Given the description of an element on the screen output the (x, y) to click on. 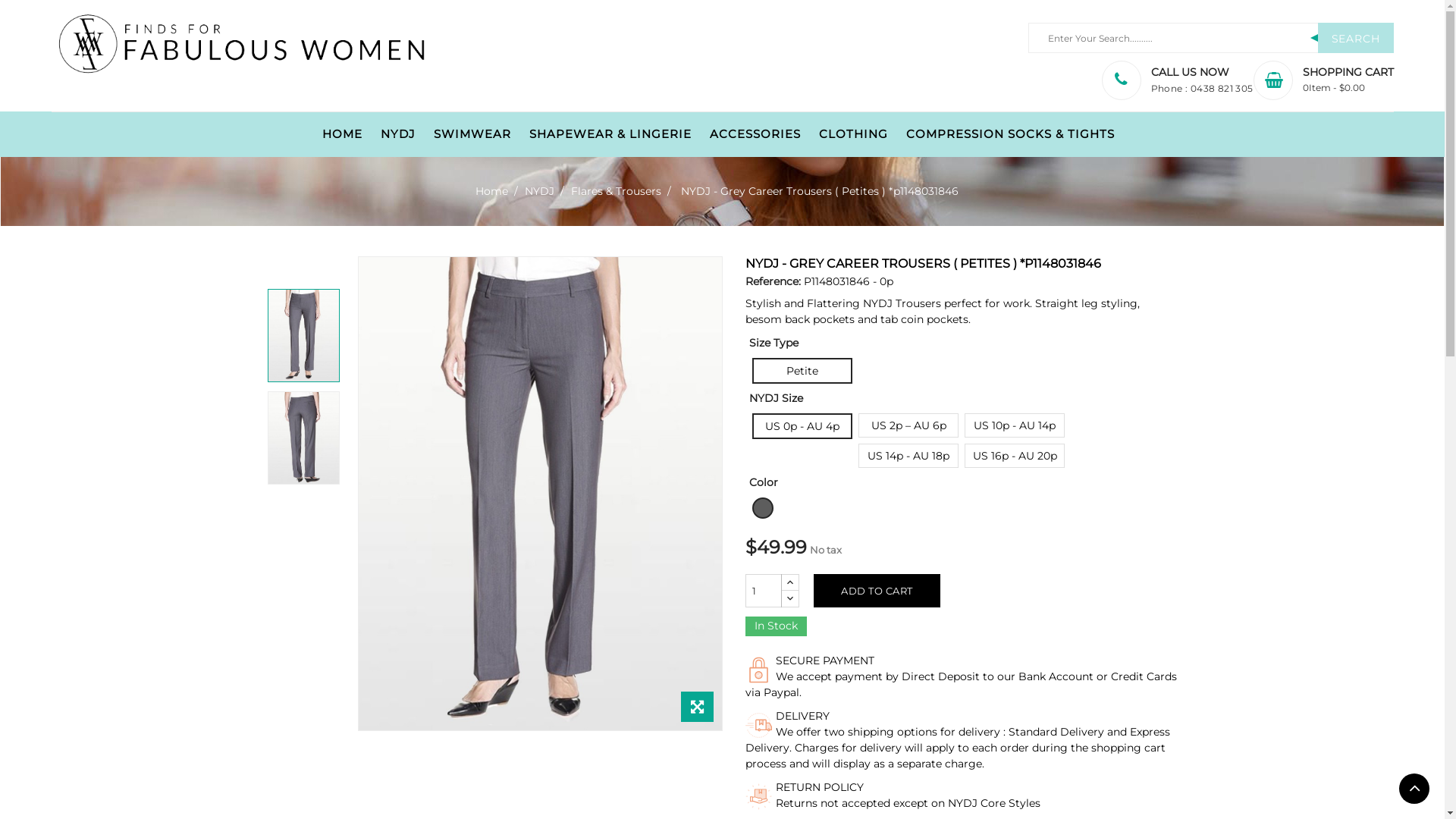
ACCESSORIES Element type: text (754, 134)
NYDJ - Grey Career Trousers *p1148031846 Element type: hover (302, 335)
Flares & Trousers Element type: text (616, 190)
NYDJ Element type: text (397, 134)
NYDJ - Grey Career Trousers *p1148031846 Element type: hover (539, 493)
SWIMWEAR Element type: text (472, 134)
SHAPEWEAR & LINGERIE Element type: text (610, 134)
NYDJ Element type: text (540, 190)
SEARCH Element type: text (1355, 37)
NYDJ - Grey Career Trousers *p1148031846 Element type: hover (302, 437)
HOME Element type: text (342, 134)
COMPRESSION SOCKS & TIGHTS Element type: text (1010, 134)
ADD TO CART Element type: text (876, 590)
NYDJ - Grey Career Trousers ( Petites ) *p1148031846 Element type: text (819, 190)
CLOTHING Element type: text (853, 134)
Home Element type: text (493, 190)
